Given the description of an element on the screen output the (x, y) to click on. 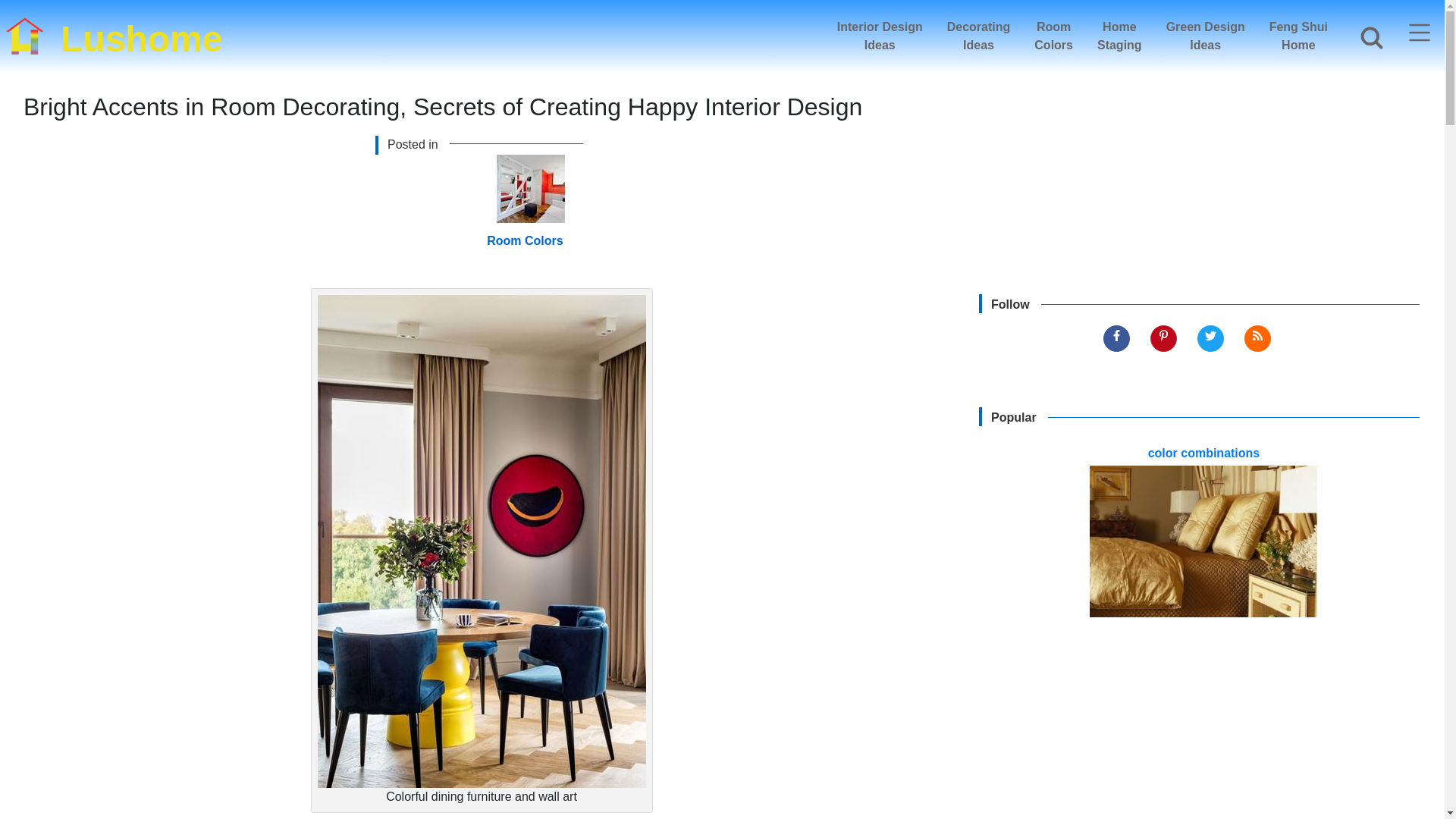
Lushome (1053, 36)
